Given the description of an element on the screen output the (x, y) to click on. 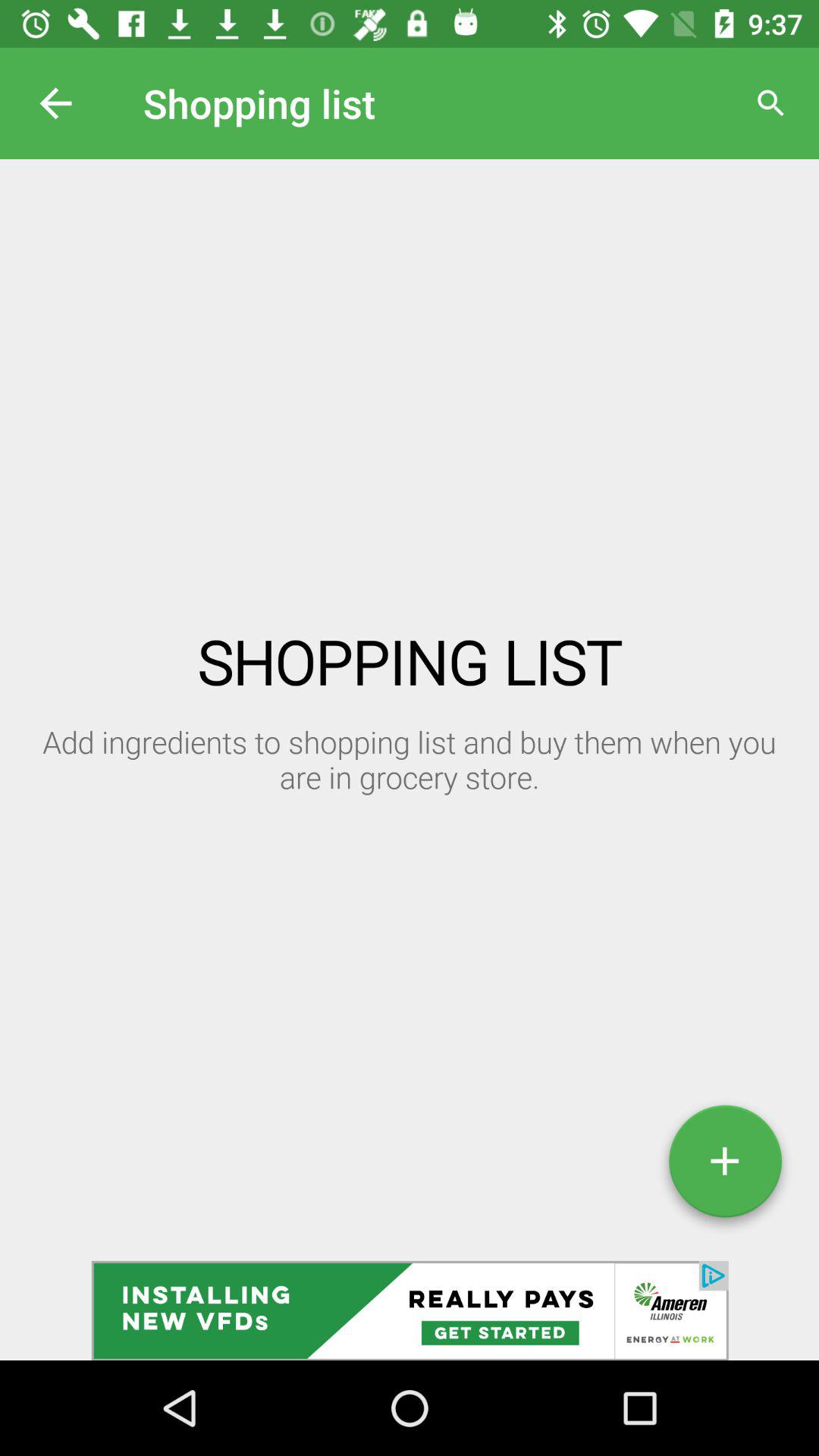
click on search button (771, 103)
